Given the description of an element on the screen output the (x, y) to click on. 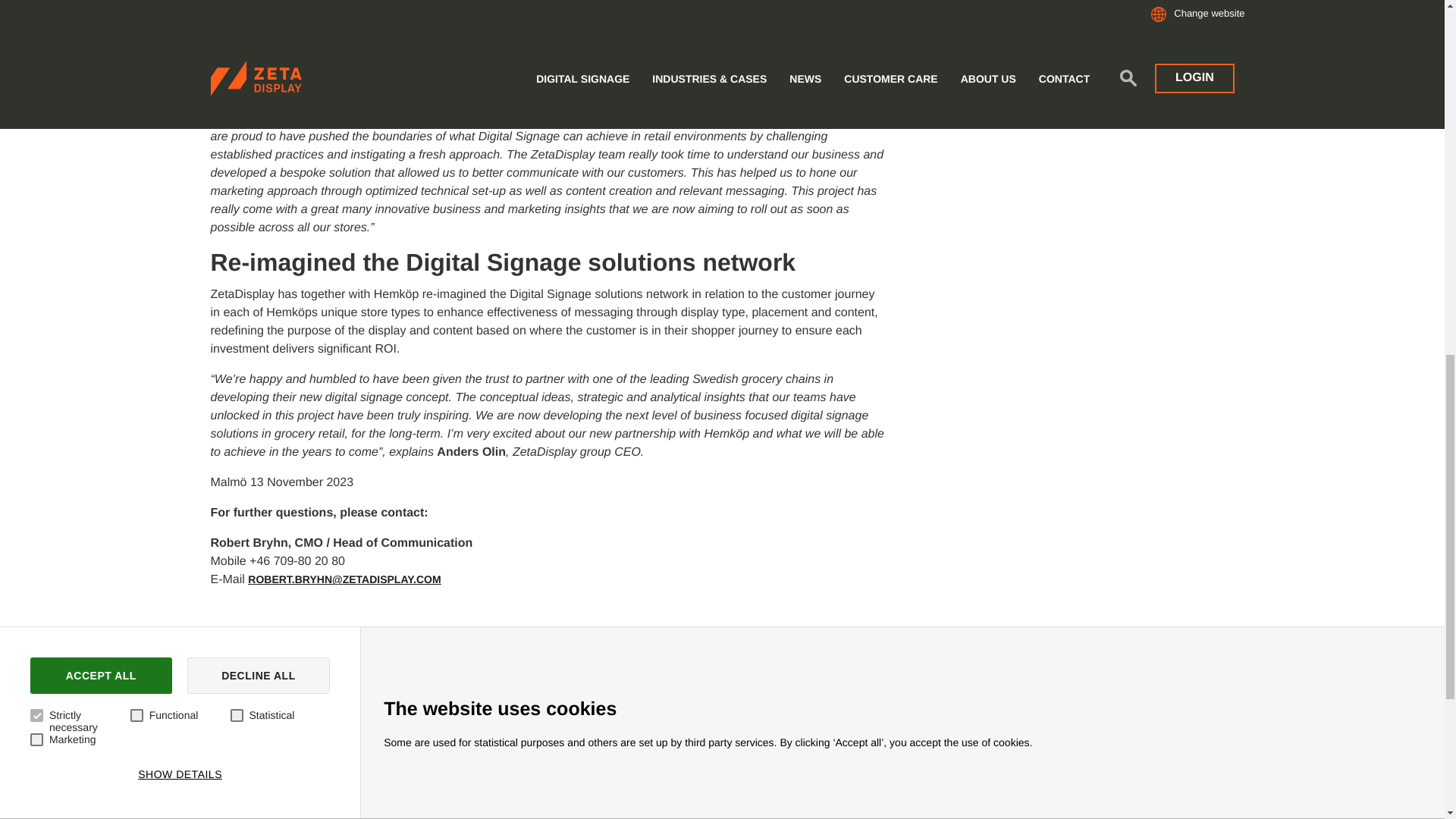
Cloudflare (462, 179)
ABOUT COOKIES (270, 21)
Session (983, 179)
JSESSIONID (1157, 80)
Pending (636, 130)
.nr-data.net (1331, 80)
Pending (636, 179)
Cloudflare (462, 130)
New Relic (462, 80)
.hsforms.com (1331, 179)
.hubspot.com (1331, 130)
Session (983, 130)
Cloudflare (462, 228)
Session (983, 80)
